Given the description of an element on the screen output the (x, y) to click on. 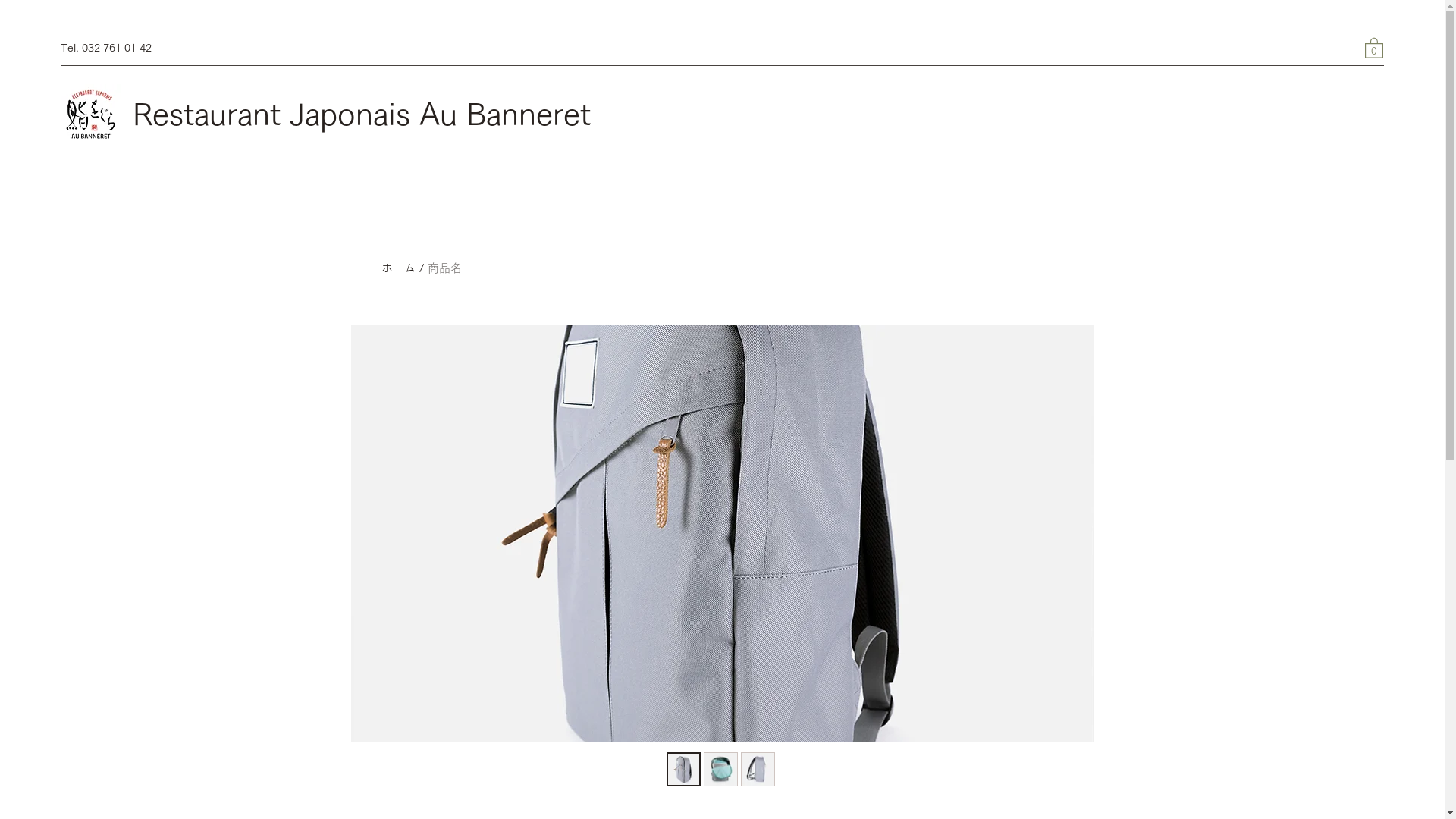
0 Element type: text (1374, 47)
Restaurant Japonais Au Banneret Element type: text (361, 113)
